Given the description of an element on the screen output the (x, y) to click on. 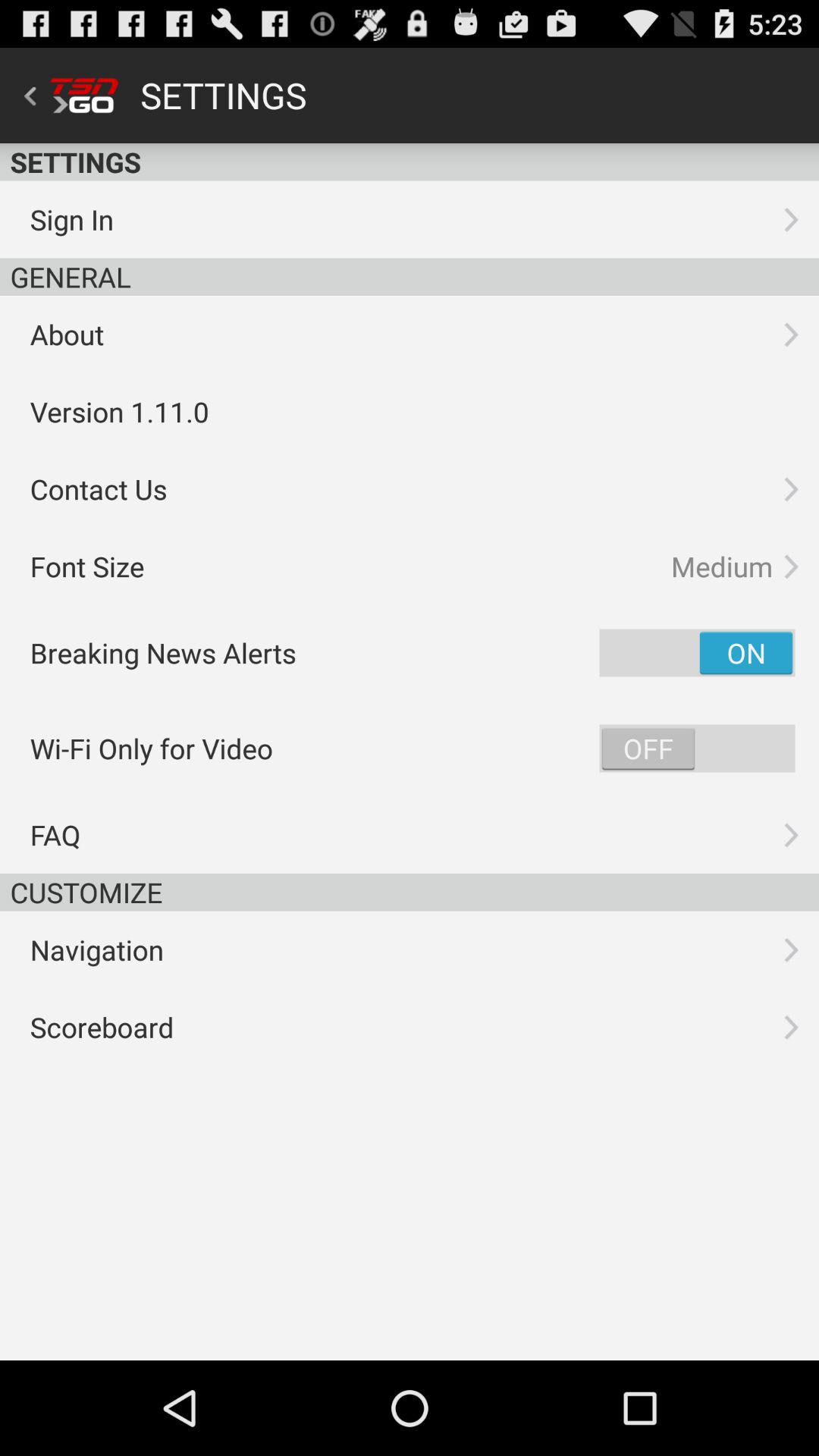
alerts on/off button (697, 652)
